Given the description of an element on the screen output the (x, y) to click on. 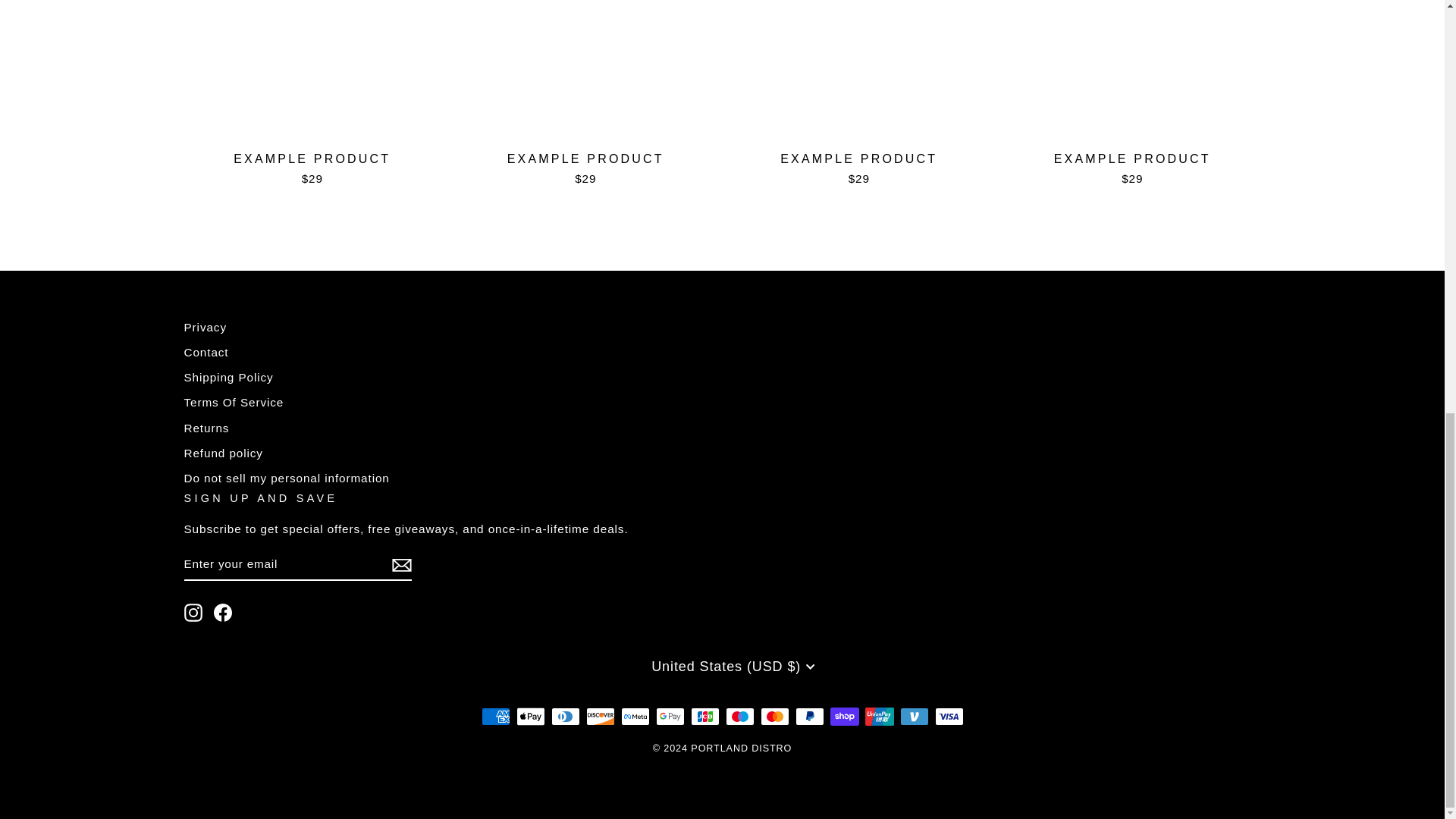
American Express (494, 716)
PORTLAND DISTRO on Facebook (222, 612)
icon-email (400, 565)
JCB (704, 716)
Discover (599, 716)
instagram (192, 612)
Maestro (739, 716)
Apple Pay (529, 716)
Meta Pay (634, 716)
Google Pay (669, 716)
